Given the description of an element on the screen output the (x, y) to click on. 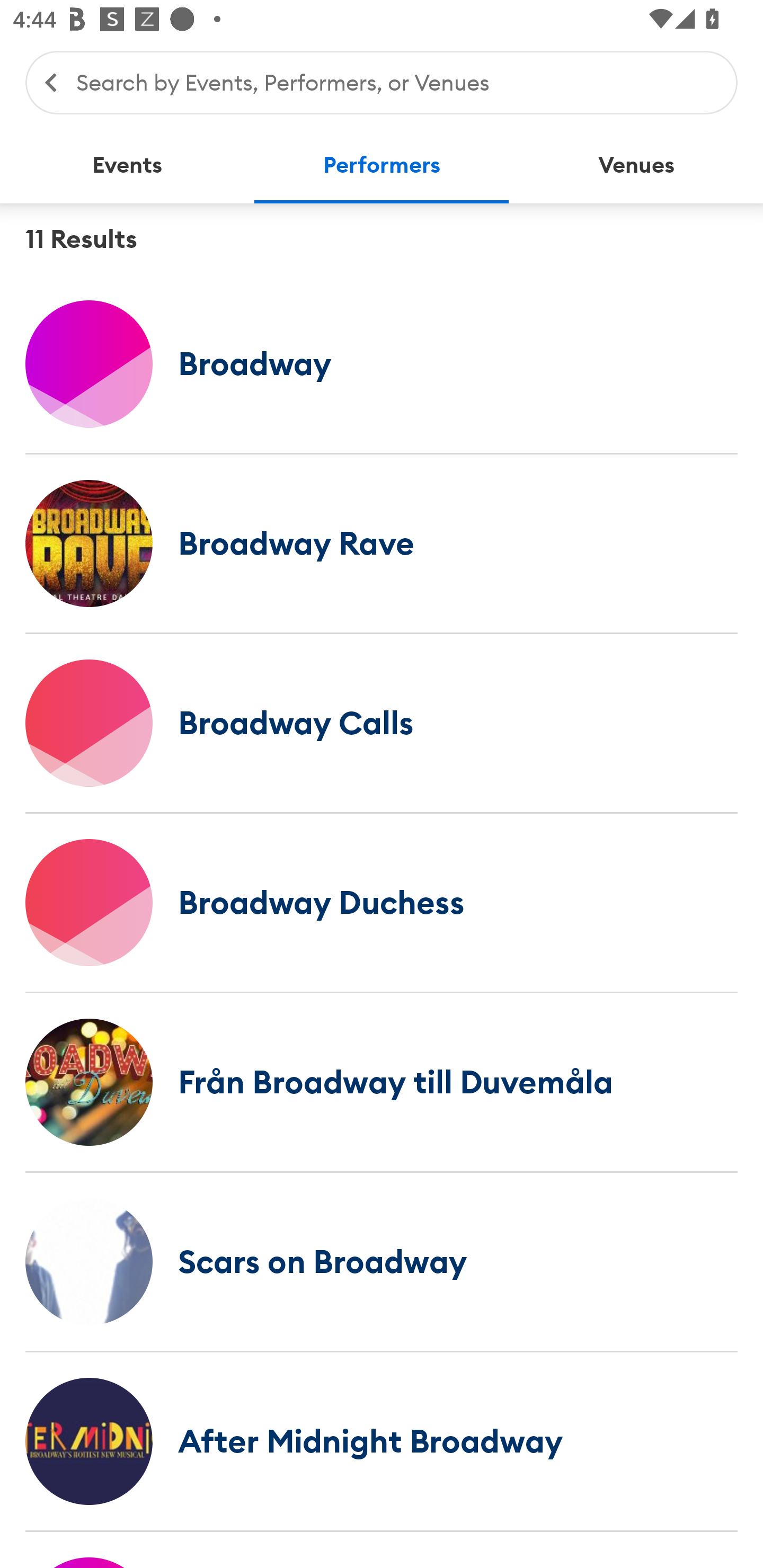
Events (127, 165)
Venues (635, 165)
Broadway (381, 363)
Broadway Rave (381, 542)
Broadway Calls (381, 722)
Broadway Duchess (381, 901)
Från Broadway till Duvemåla (381, 1081)
Scars on Broadway (381, 1261)
After Midnight Broadway (381, 1440)
